Given the description of an element on the screen output the (x, y) to click on. 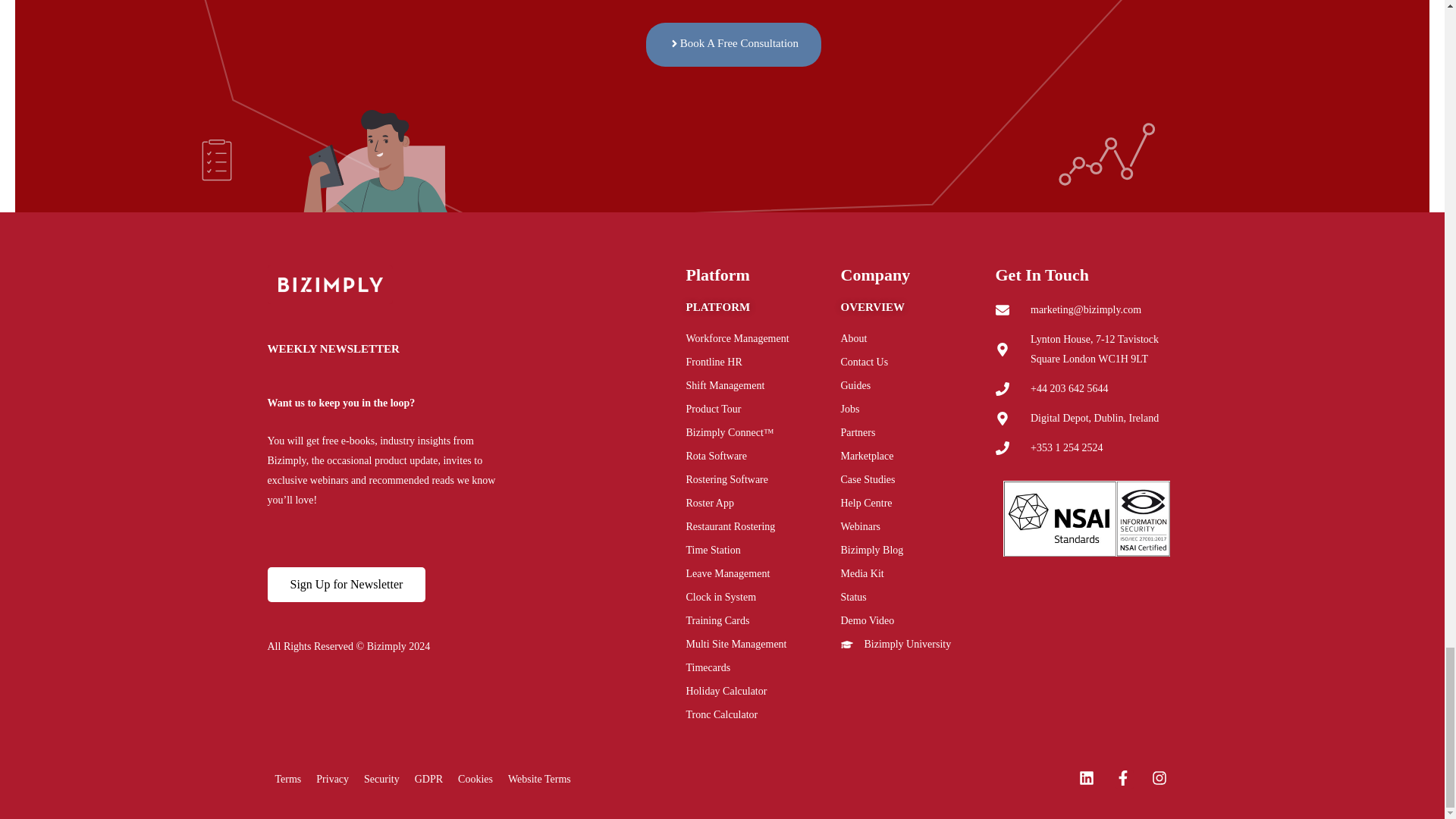
Rostering Software (762, 479)
Frontline HR (762, 362)
Workforce Management (762, 338)
Book A Free Consultation (733, 44)
Roster App (762, 503)
Shift Management (762, 385)
Sign Up for Newsletter (345, 584)
Product Tour (762, 409)
Rota Software (762, 456)
Restaurant Rostering (762, 526)
